Given the description of an element on the screen output the (x, y) to click on. 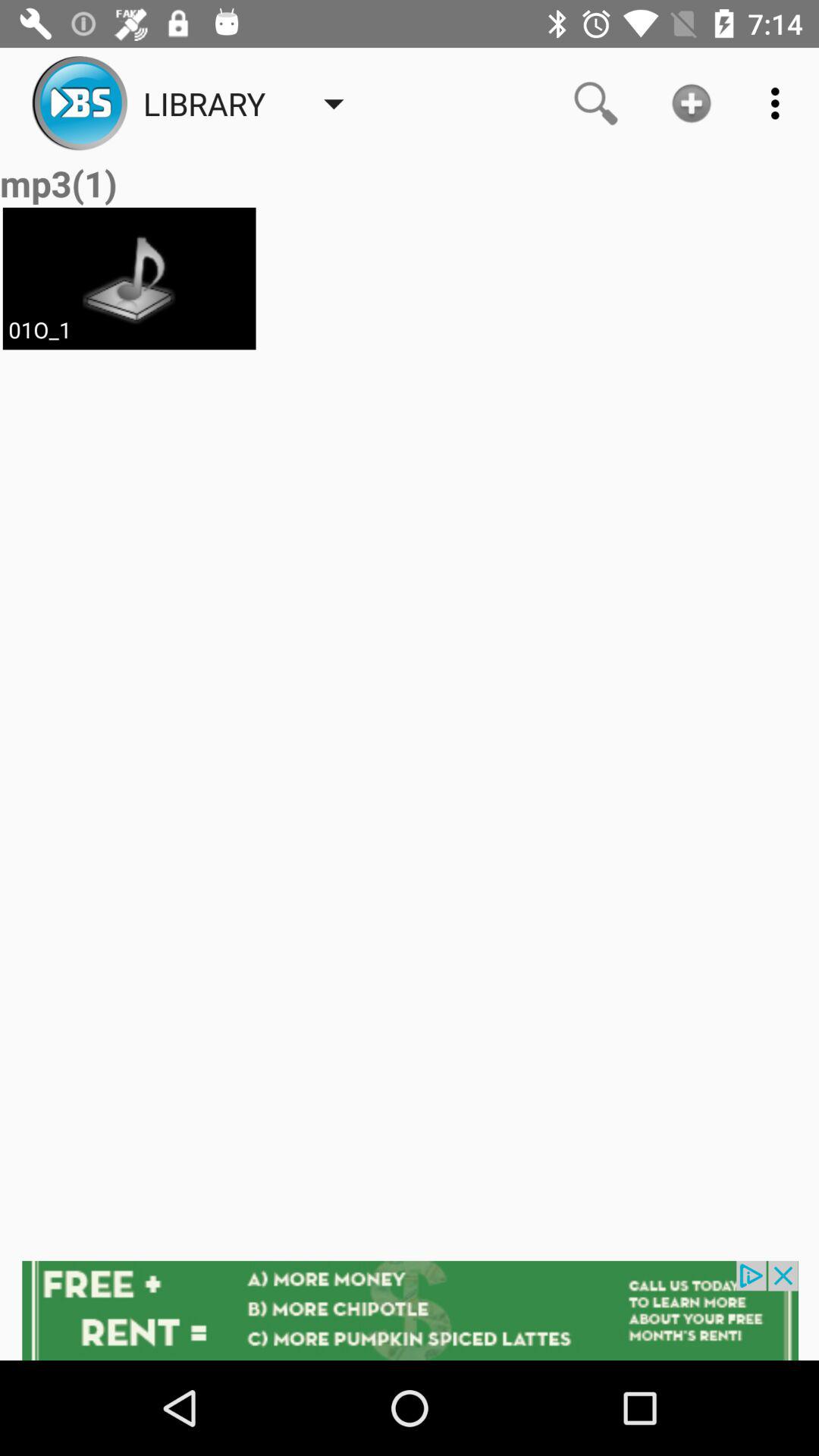
advertisement link image (409, 1310)
